Given the description of an element on the screen output the (x, y) to click on. 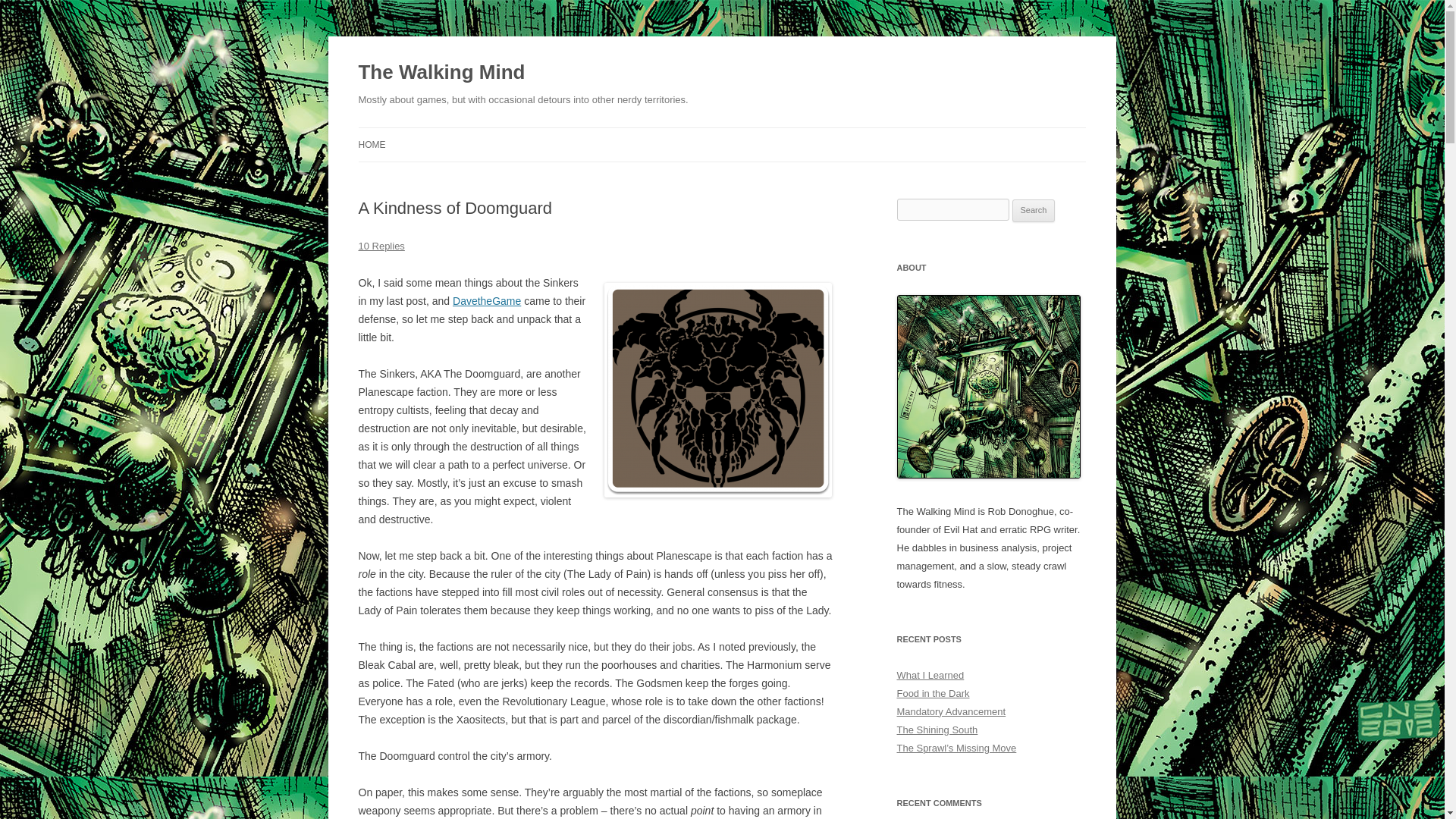
Mandatory Advancement (951, 711)
The Walking Mind (441, 72)
What I Learned (929, 674)
DavetheGame (486, 300)
Search (1033, 210)
Search (1033, 210)
10 Replies (381, 245)
Food in the Dark (932, 693)
The Shining South (936, 729)
